Given the description of an element on the screen output the (x, y) to click on. 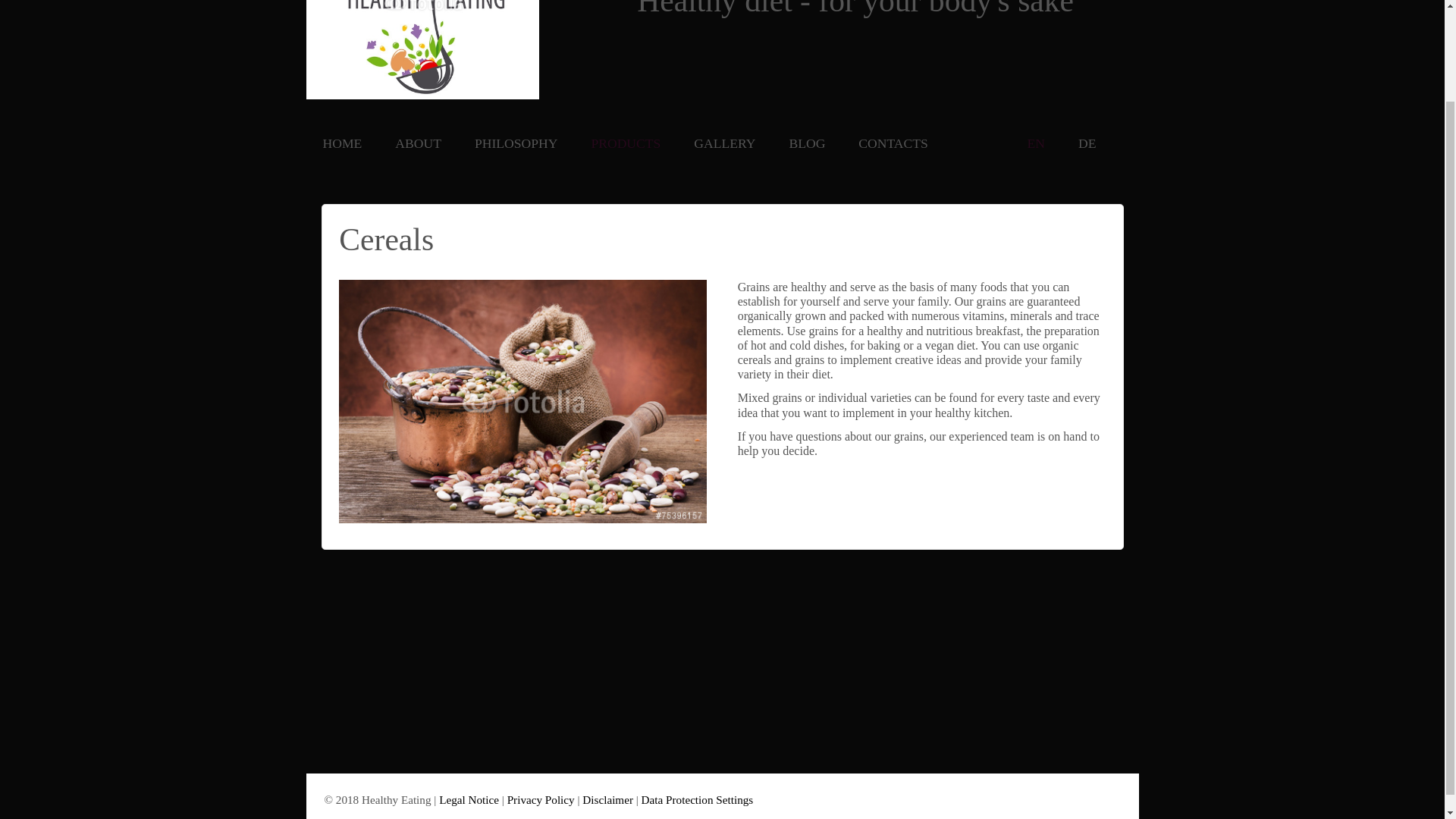
ABOUT (417, 144)
DE (1086, 144)
EN (1035, 144)
CONTACTS (892, 144)
Disclaimer (607, 799)
GALLERY (724, 144)
Legal Notice (469, 799)
BLOG (806, 144)
Privacy Policy (540, 799)
